Given the description of an element on the screen output the (x, y) to click on. 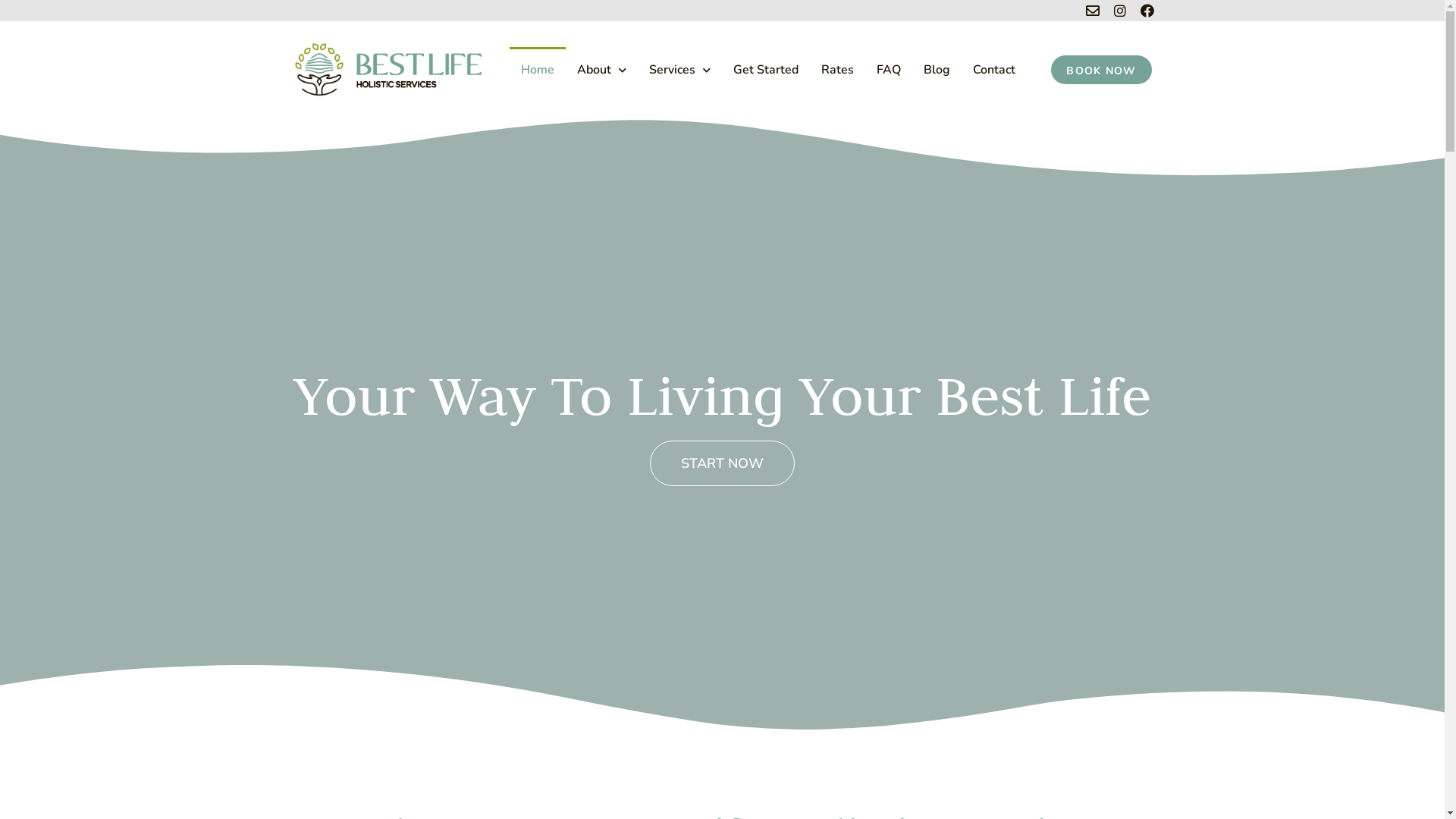
BOOK NOW Element type: text (1101, 68)
Contact Element type: text (993, 69)
Rates Element type: text (837, 69)
FAQ Element type: text (887, 69)
Blog Element type: text (935, 69)
Get Started Element type: text (765, 69)
Services Element type: text (679, 69)
Home Element type: text (537, 69)
About Element type: text (601, 69)
START NOW Element type: text (721, 462)
